Given the description of an element on the screen output the (x, y) to click on. 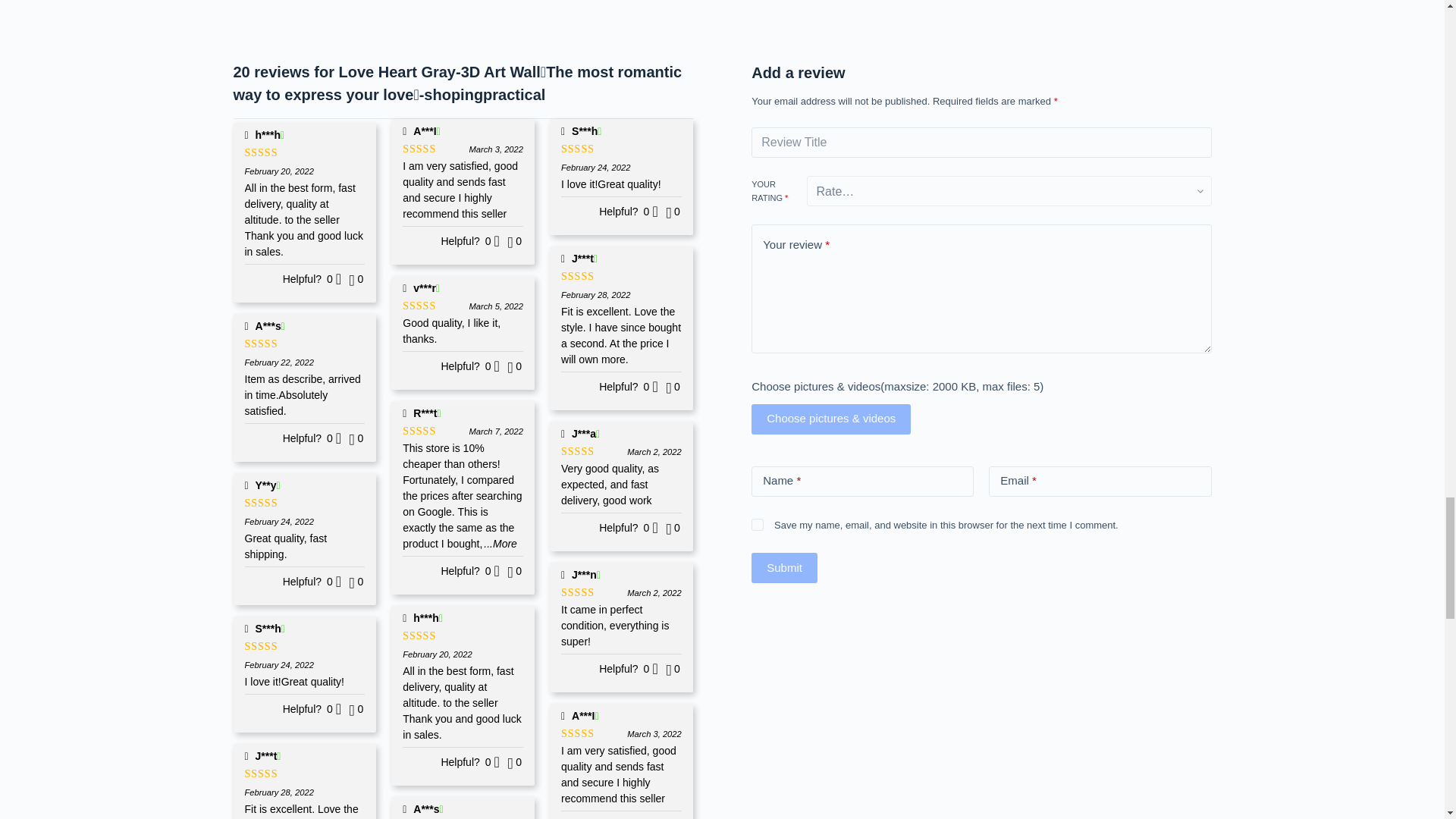
yes (756, 524)
Submit (783, 567)
